Given the description of an element on the screen output the (x, y) to click on. 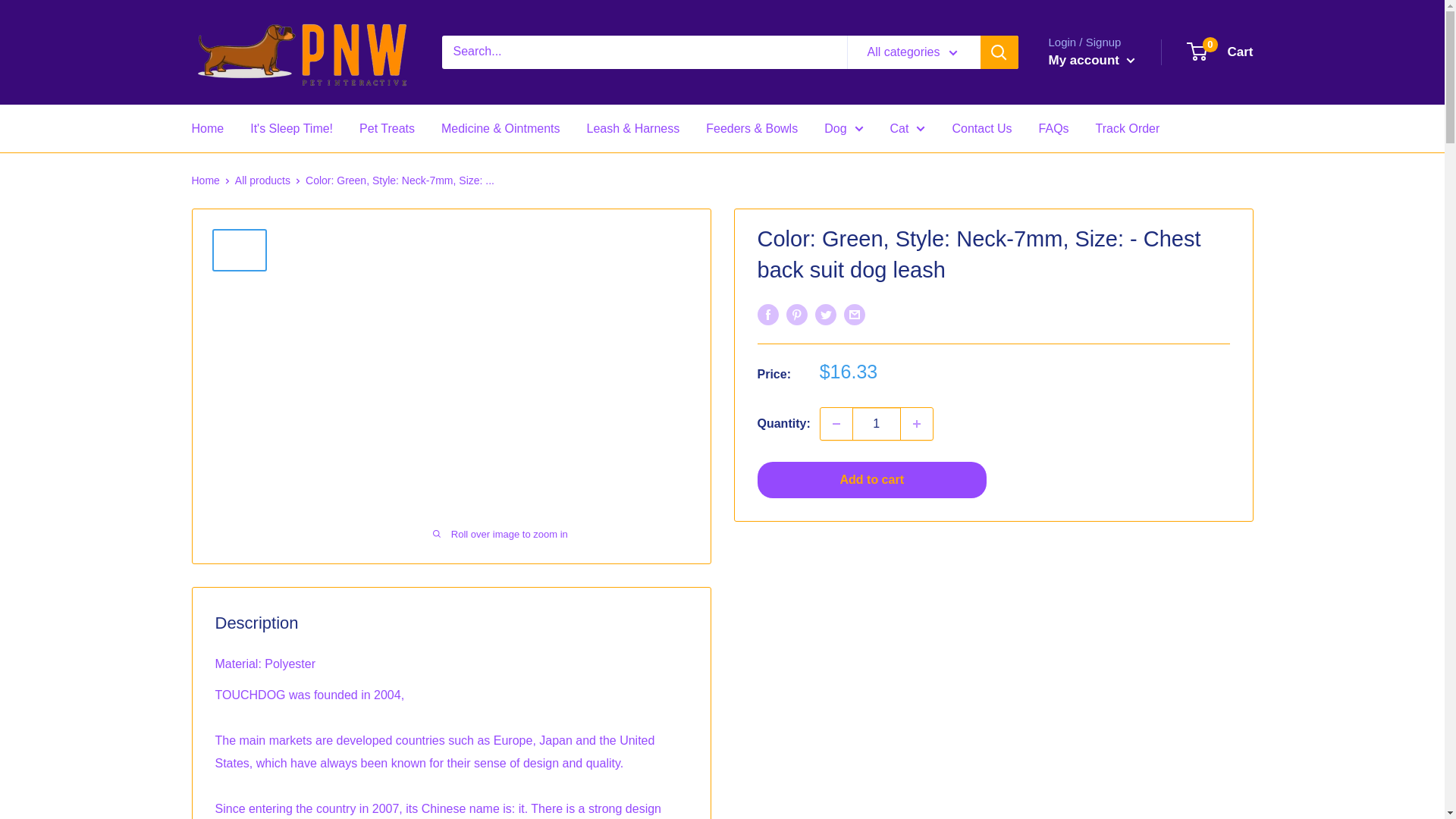
1 (876, 423)
Decrease quantity by 1 (836, 423)
My account (1091, 60)
Increase quantity by 1 (917, 423)
